Given the description of an element on the screen output the (x, y) to click on. 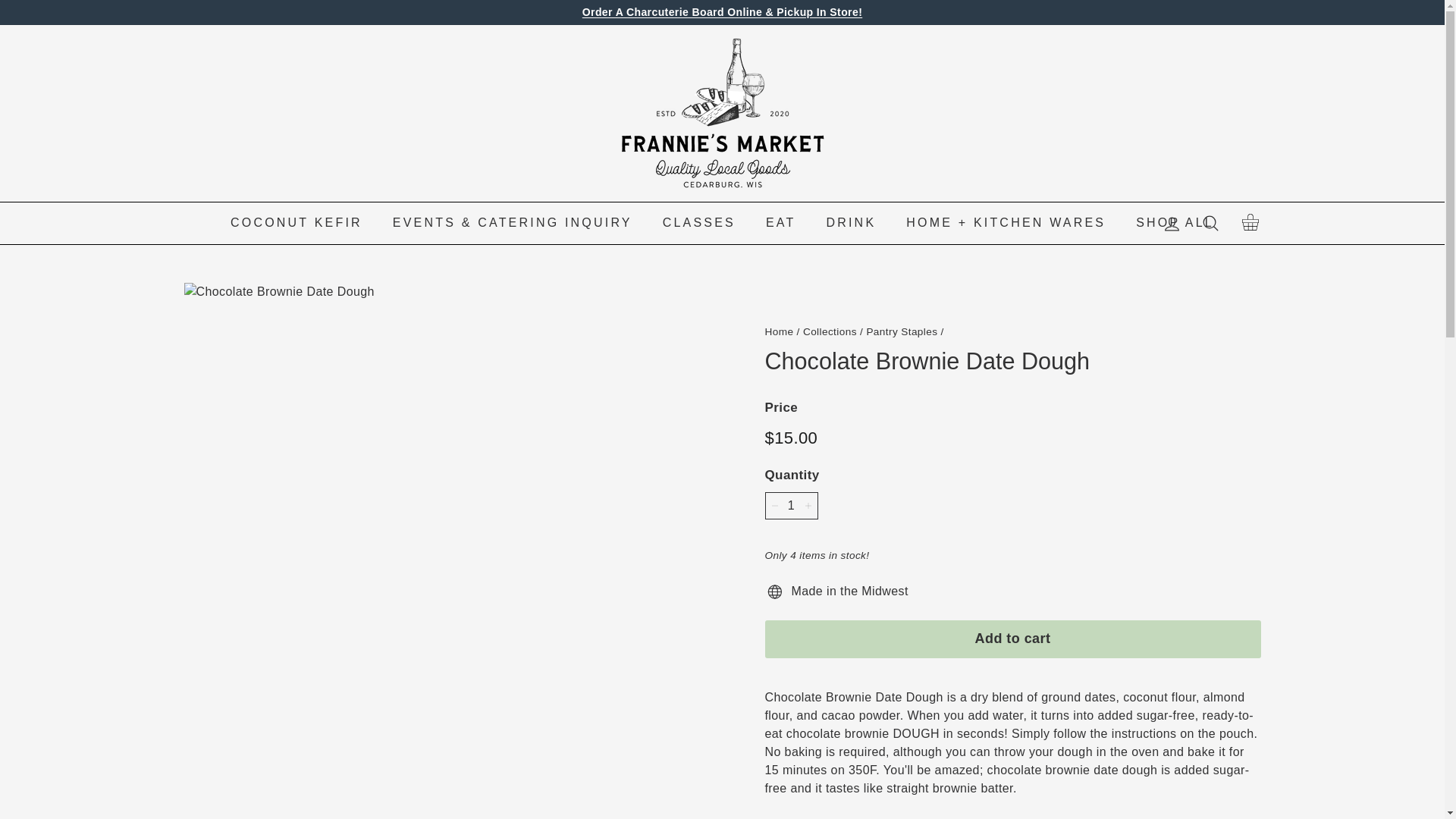
Single Charcuterie Box (721, 11)
DRINK (850, 222)
COCONUT KEFIR (1250, 223)
CLASSES (296, 222)
Skip to content (699, 222)
1 (778, 331)
EAT (790, 505)
